Given the description of an element on the screen output the (x, y) to click on. 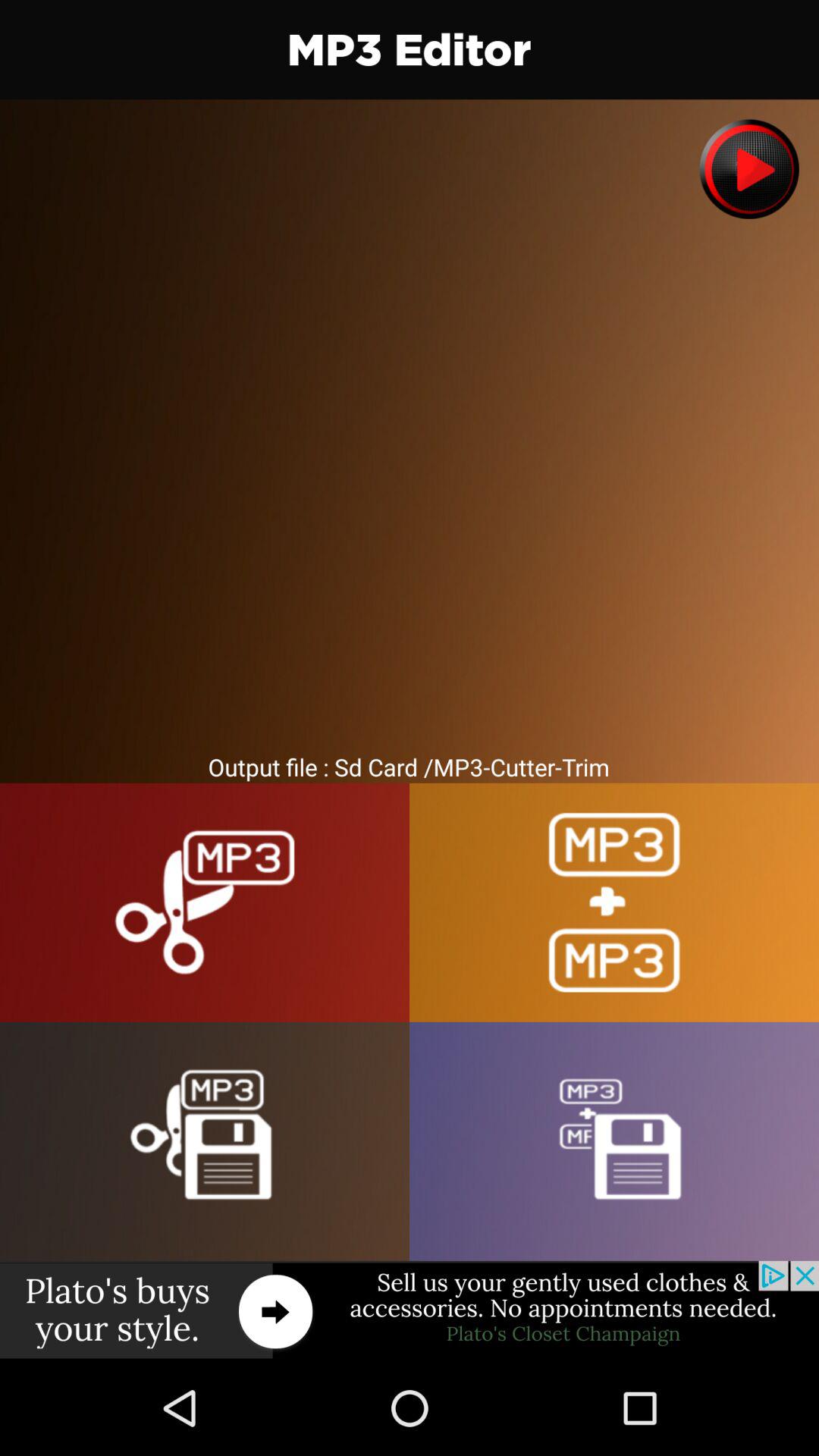
advertisement display (409, 1310)
